Given the description of an element on the screen output the (x, y) to click on. 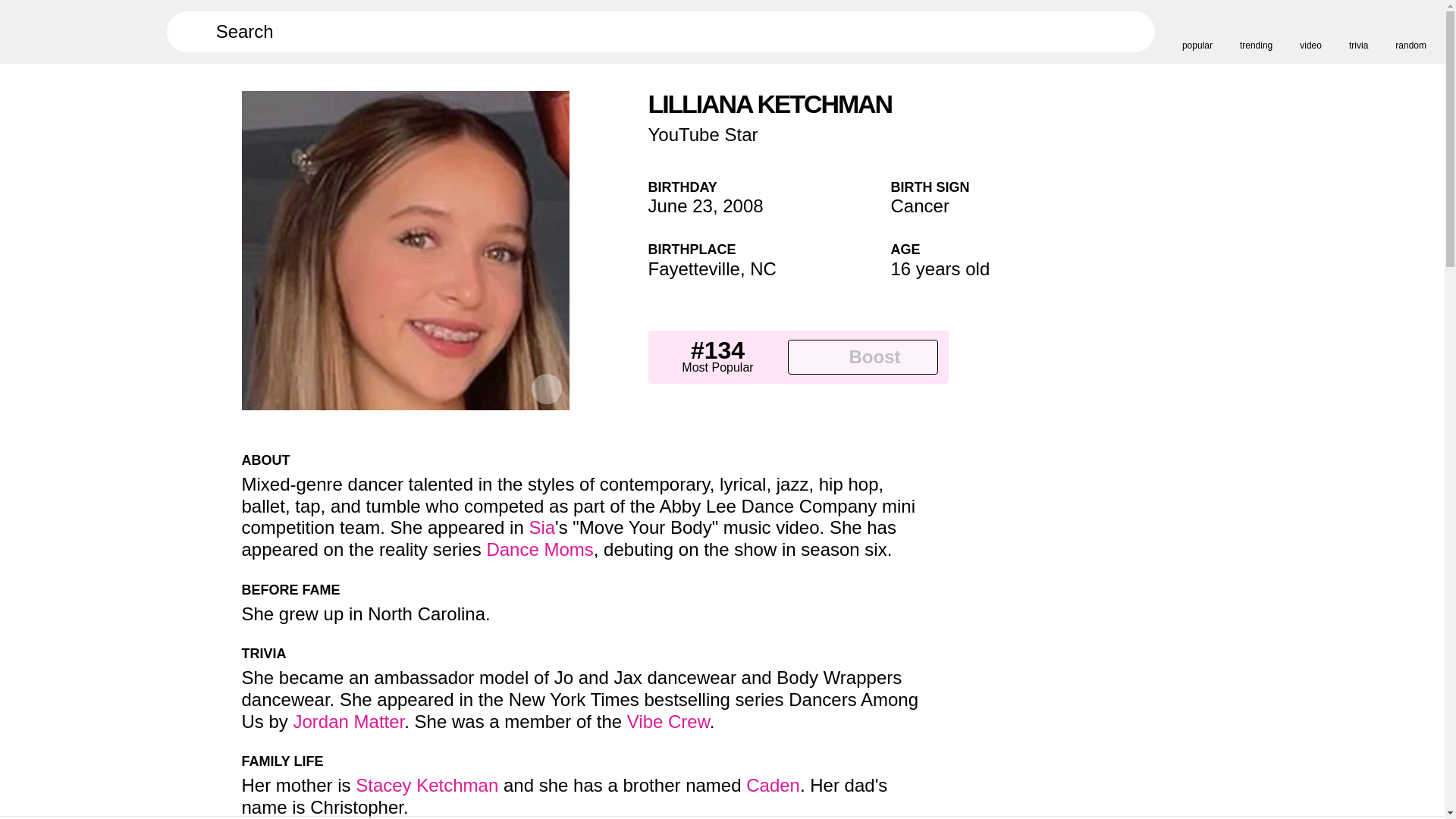
Sia (541, 526)
Vibe Crew (668, 721)
Boost (862, 356)
Fayetteville (693, 268)
Jordan Matter (349, 721)
16 years old (939, 268)
June 23 (679, 205)
2008 (742, 205)
Stacey Ketchman (426, 784)
Dance Moms (539, 548)
NC (762, 268)
Cancer (919, 205)
Caden (772, 784)
YouTube Star (702, 134)
